Given the description of an element on the screen output the (x, y) to click on. 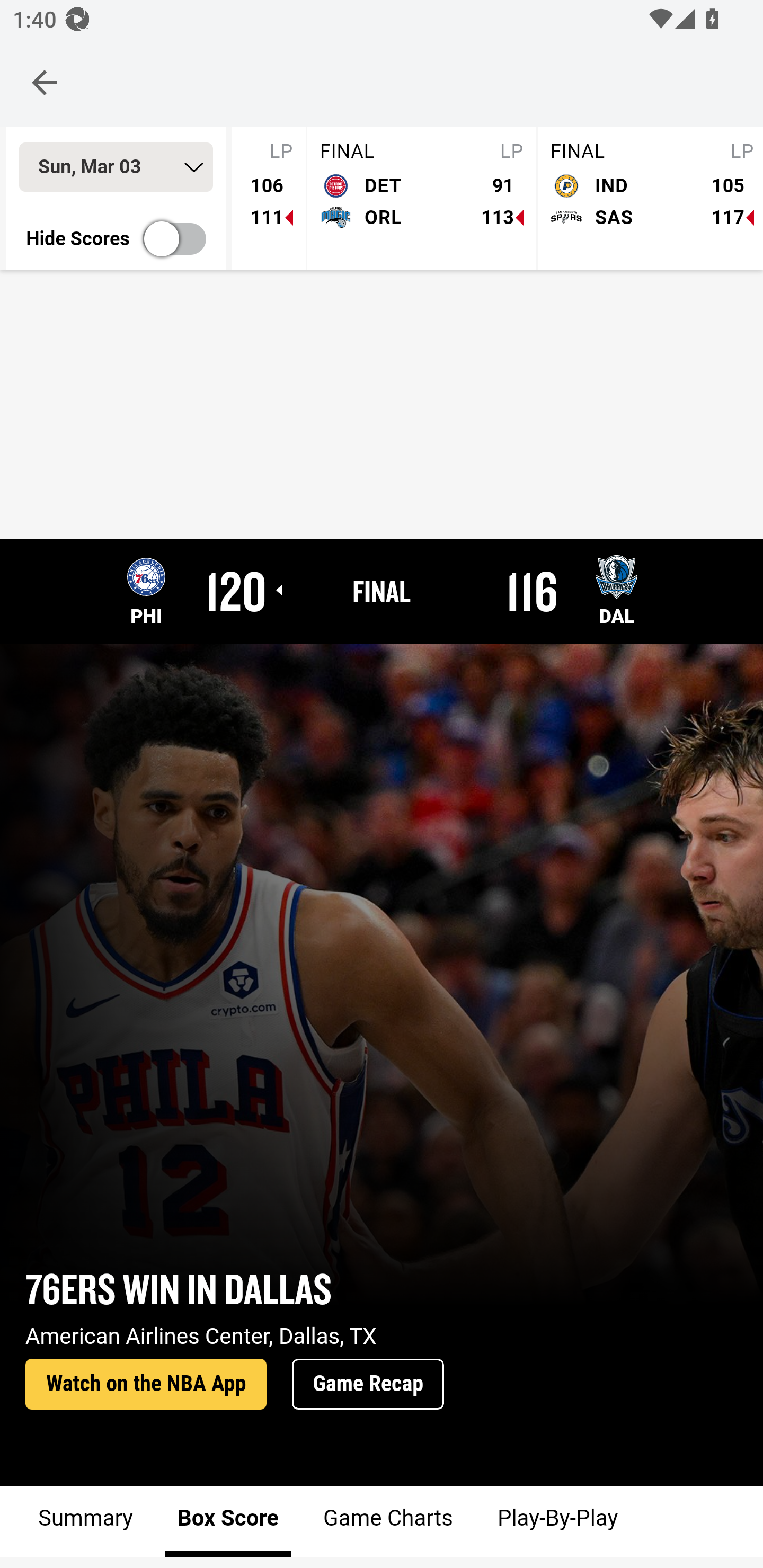
Navigate up (44, 82)
Sun, Mar 03 (115, 166)
Watch on the NBA App (146, 1384)
Game Recap (367, 1384)
Summary Summary Summary (85, 1521)
Box Score Box Score Box Score (228, 1521)
Game Charts Game Charts Game Charts (387, 1521)
Play-By-Play Play-By-Play Play-By-Play (556, 1521)
